Given the description of an element on the screen output the (x, y) to click on. 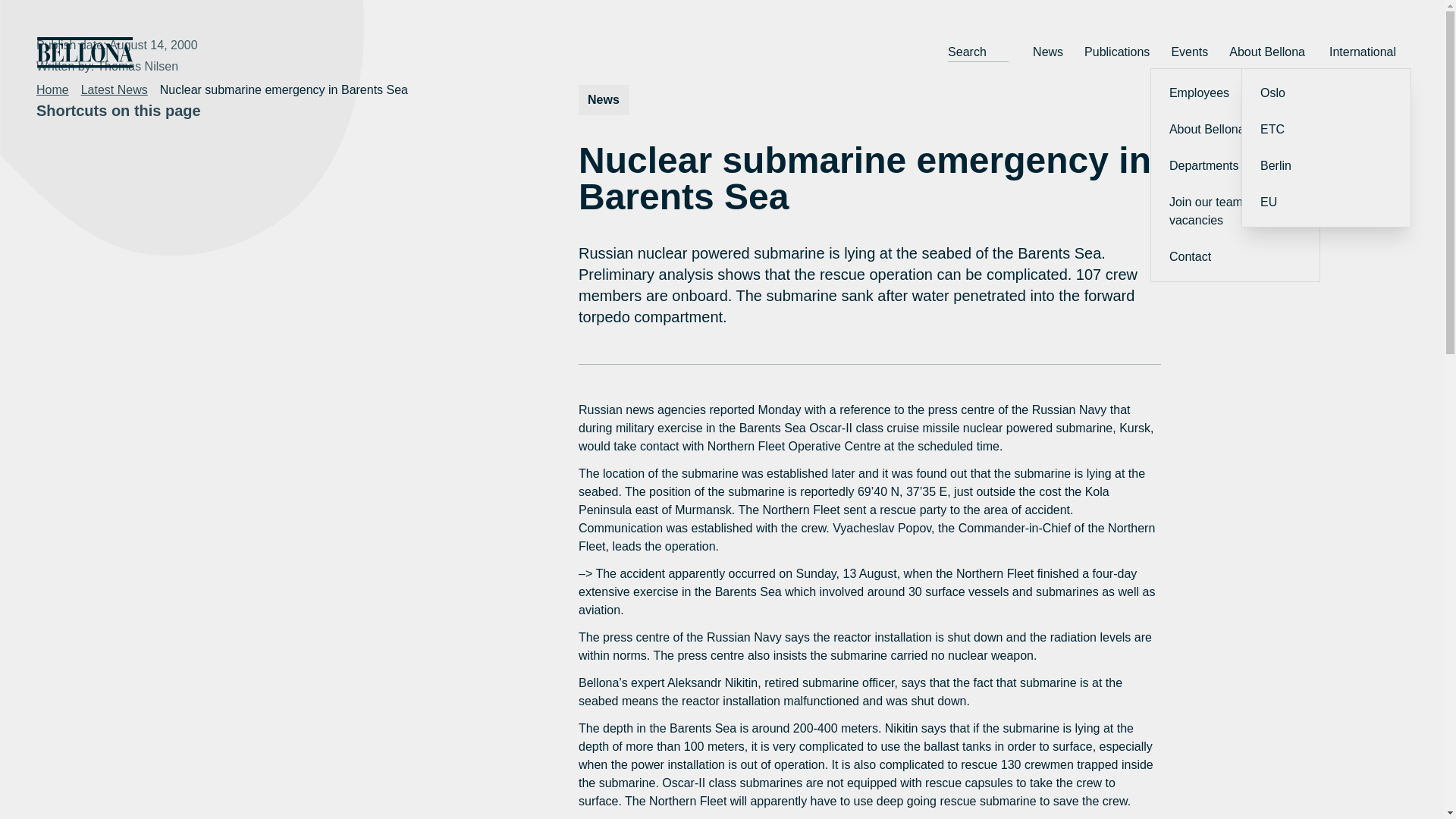
About Bellona (1235, 129)
Berlin (1326, 166)
ETC (1326, 129)
Home (52, 90)
International (1363, 51)
EU (1326, 202)
News (1047, 51)
Contact (1235, 257)
Events (1189, 51)
About Bellona (1268, 51)
Departments (1235, 166)
Oslo (1326, 93)
Employees (1235, 93)
Publications (1116, 51)
Latest News (114, 90)
